Given the description of an element on the screen output the (x, y) to click on. 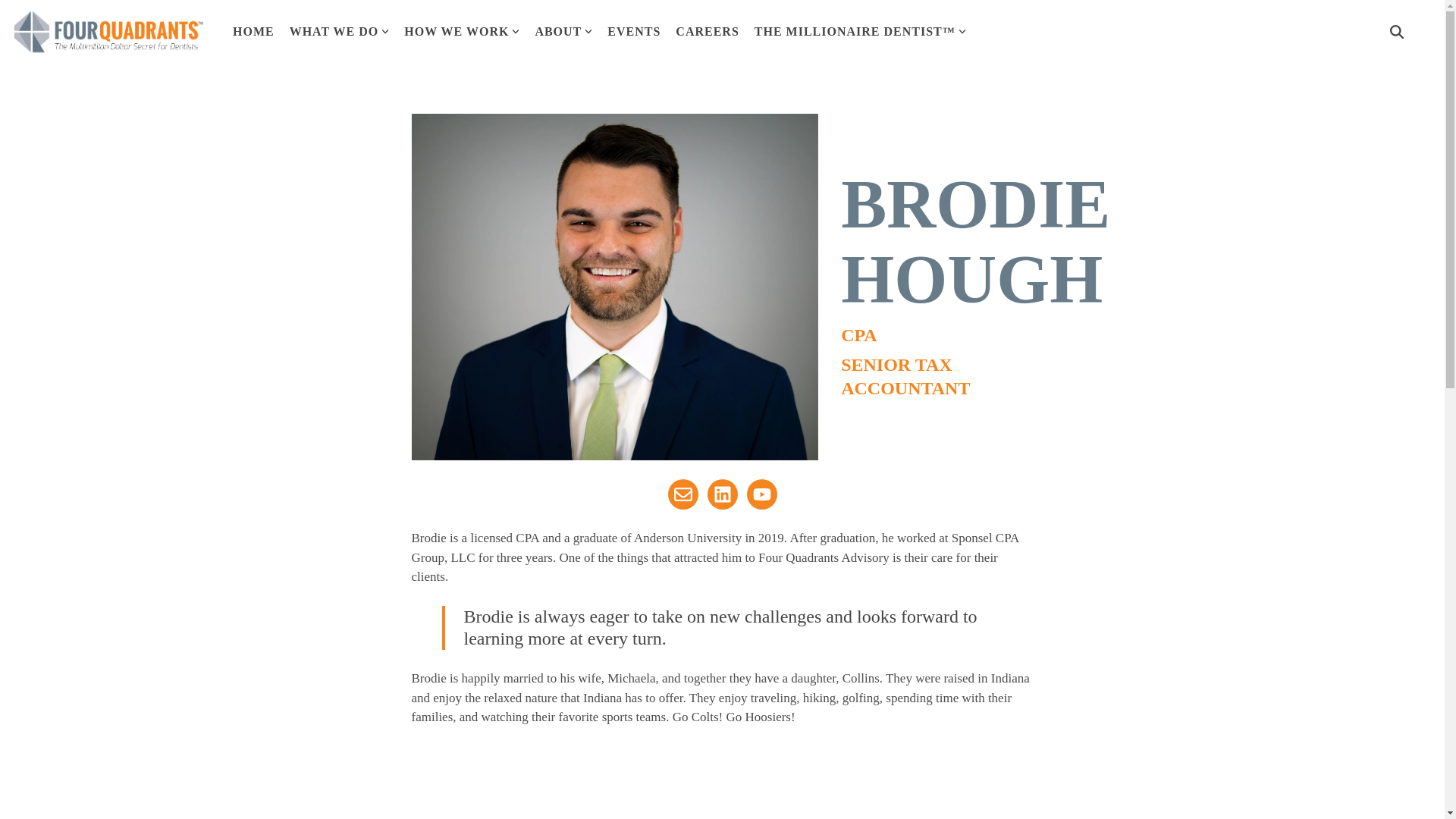
WHAT WE DO (339, 31)
ABOUT (563, 31)
HOME (253, 31)
EVENTS (634, 31)
CAREERS (706, 31)
HOW WE WORK (461, 31)
